Given the description of an element on the screen output the (x, y) to click on. 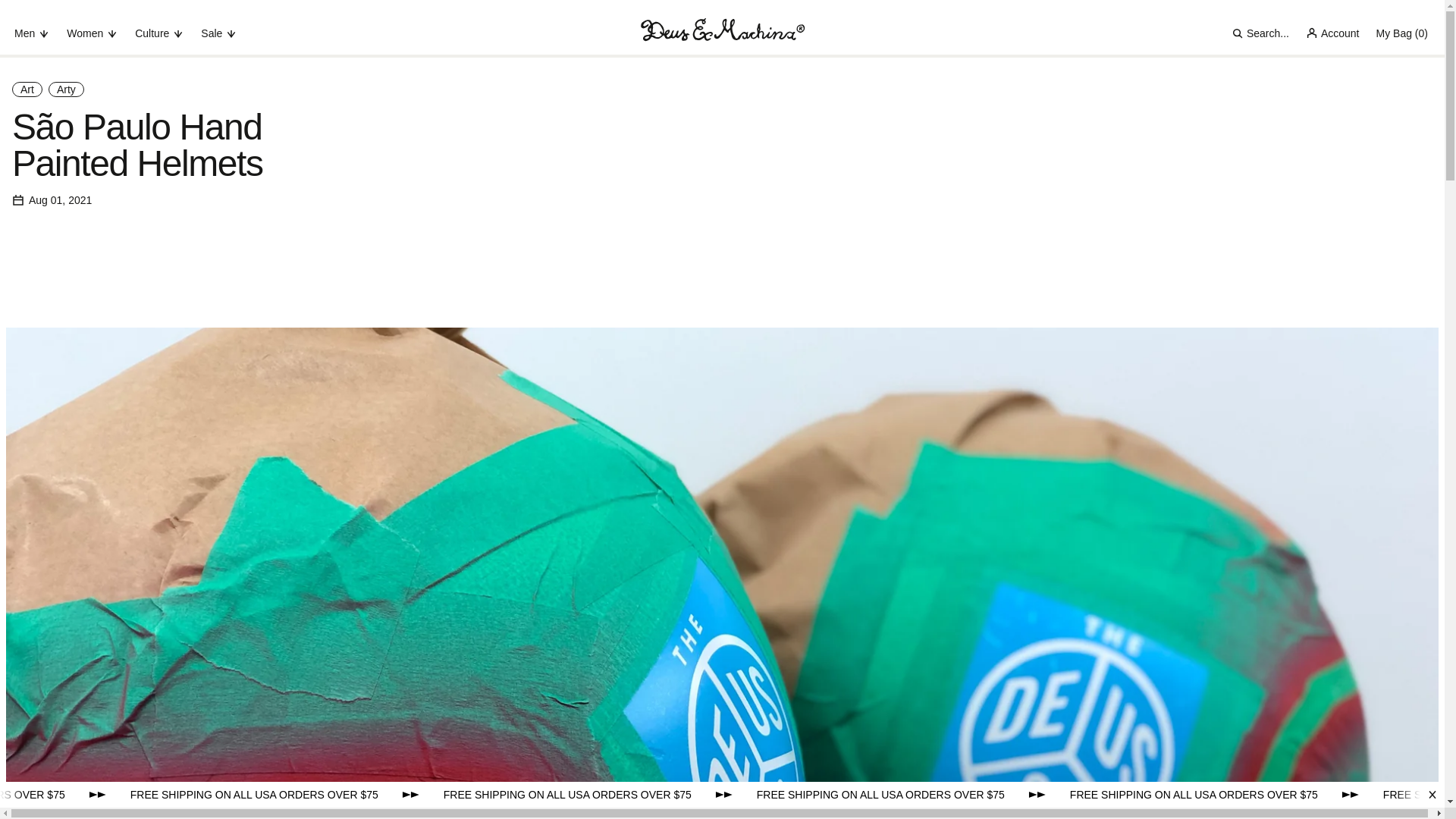
Men (31, 33)
